Given the description of an element on the screen output the (x, y) to click on. 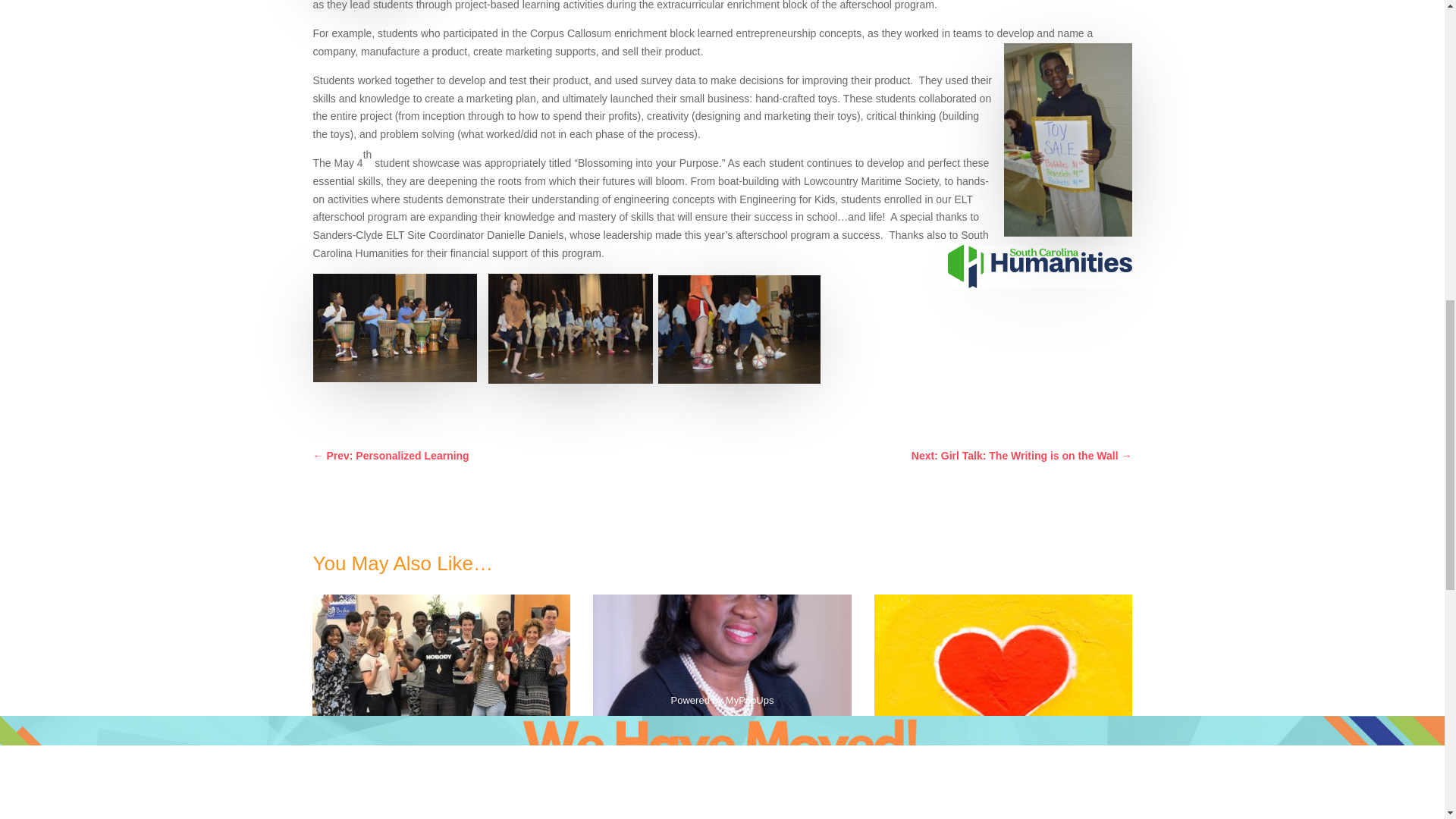
MyPopUps (749, 651)
